Given the description of an element on the screen output the (x, y) to click on. 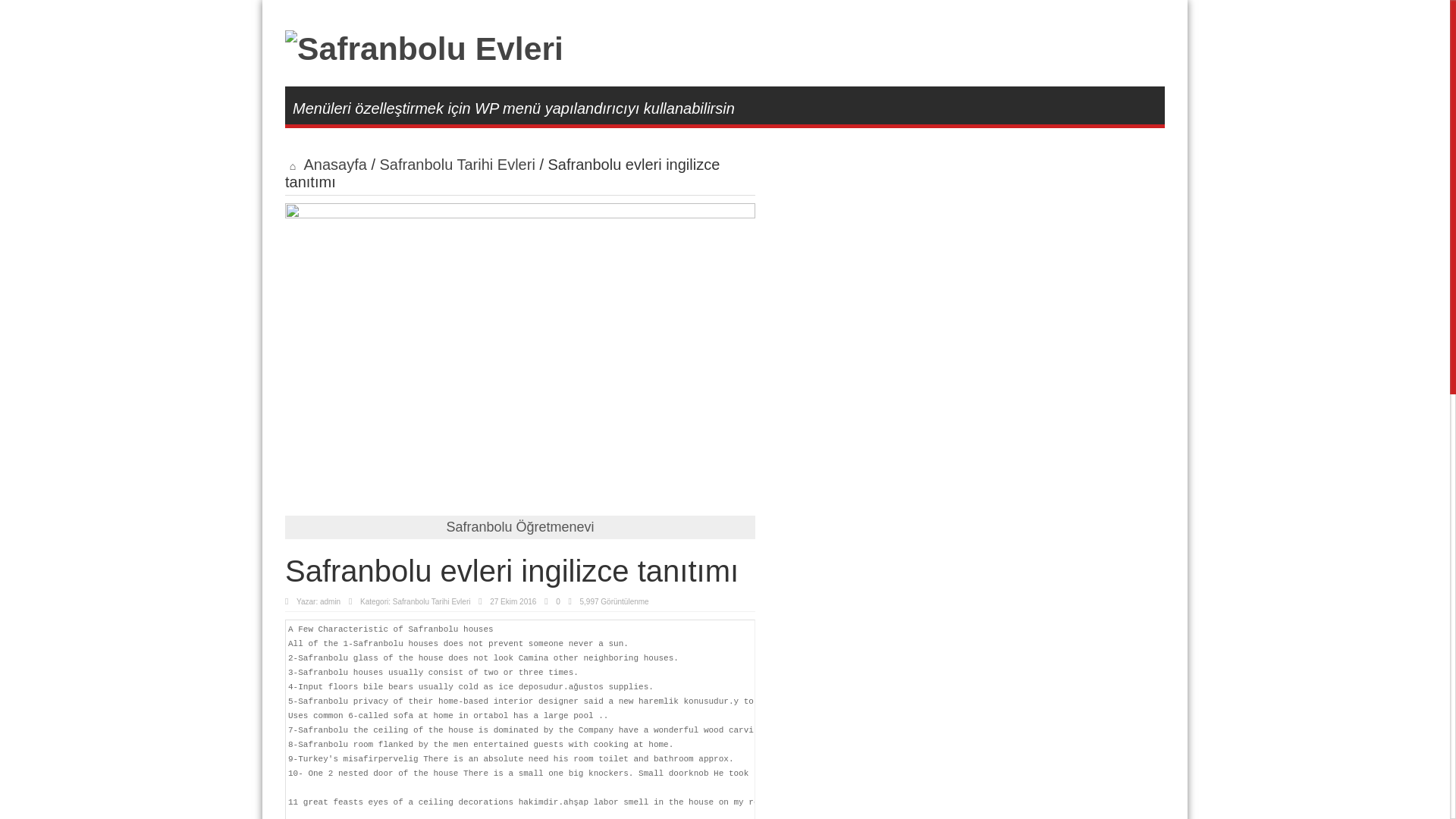
Safranbolu Evleri (424, 48)
